Given the description of an element on the screen output the (x, y) to click on. 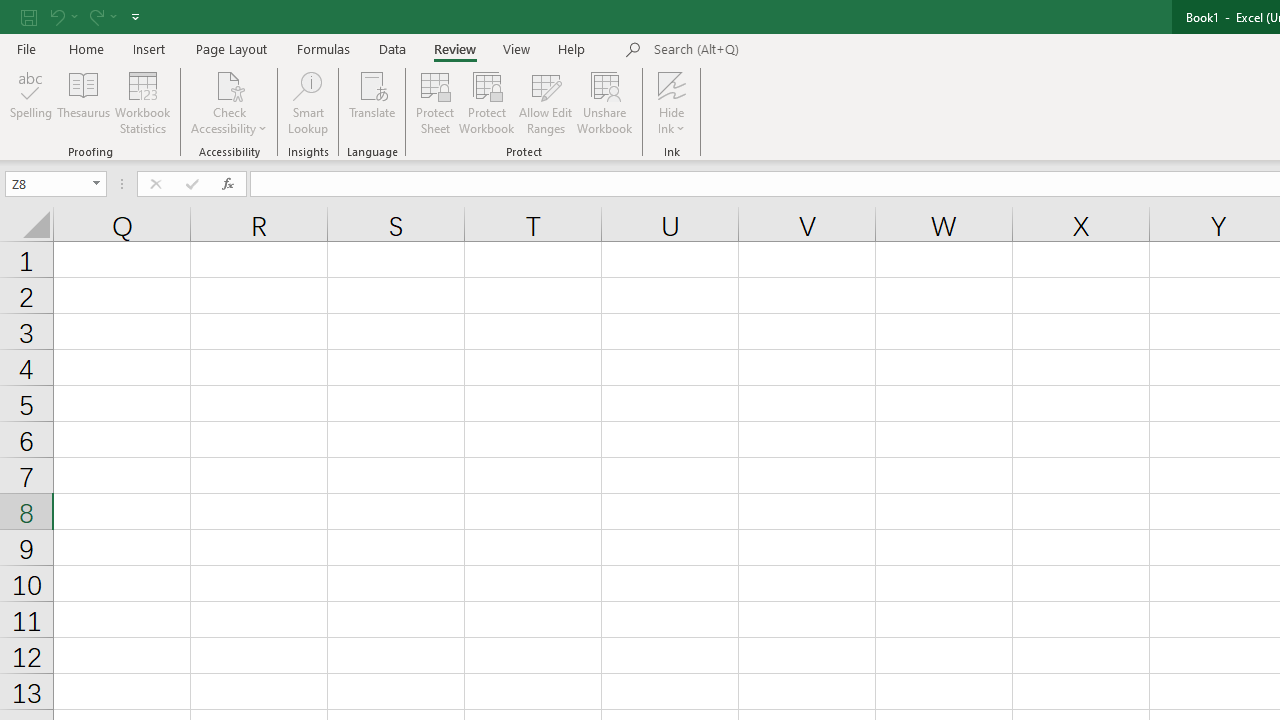
Translate (372, 102)
Unshare Workbook (604, 102)
Allow Edit Ranges (545, 102)
Protect Sheet... (434, 102)
Thesaurus... (83, 102)
